Given the description of an element on the screen output the (x, y) to click on. 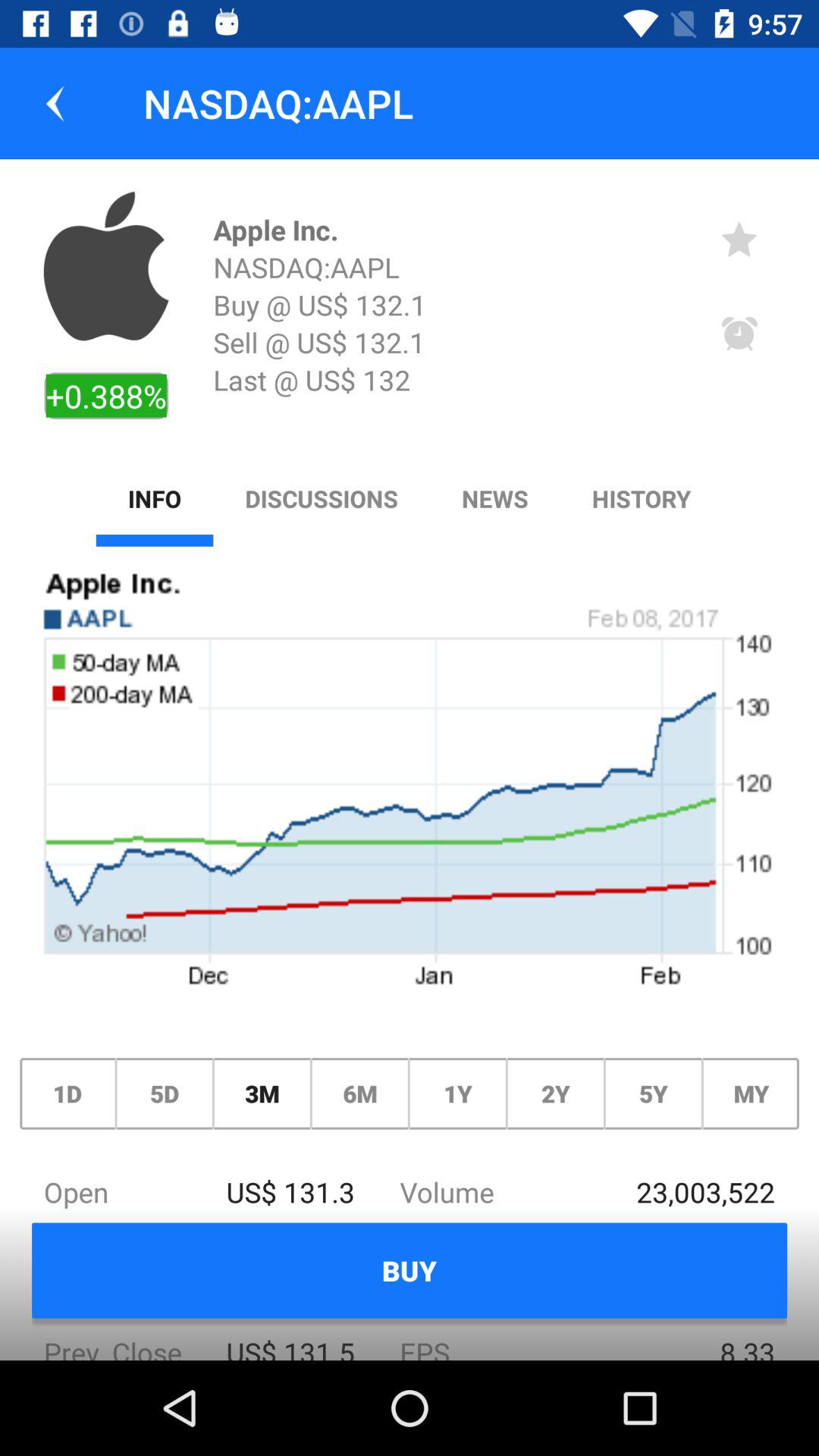
launch the icon to the left of the nasdaq:aapl item (55, 103)
